Given the description of an element on the screen output the (x, y) to click on. 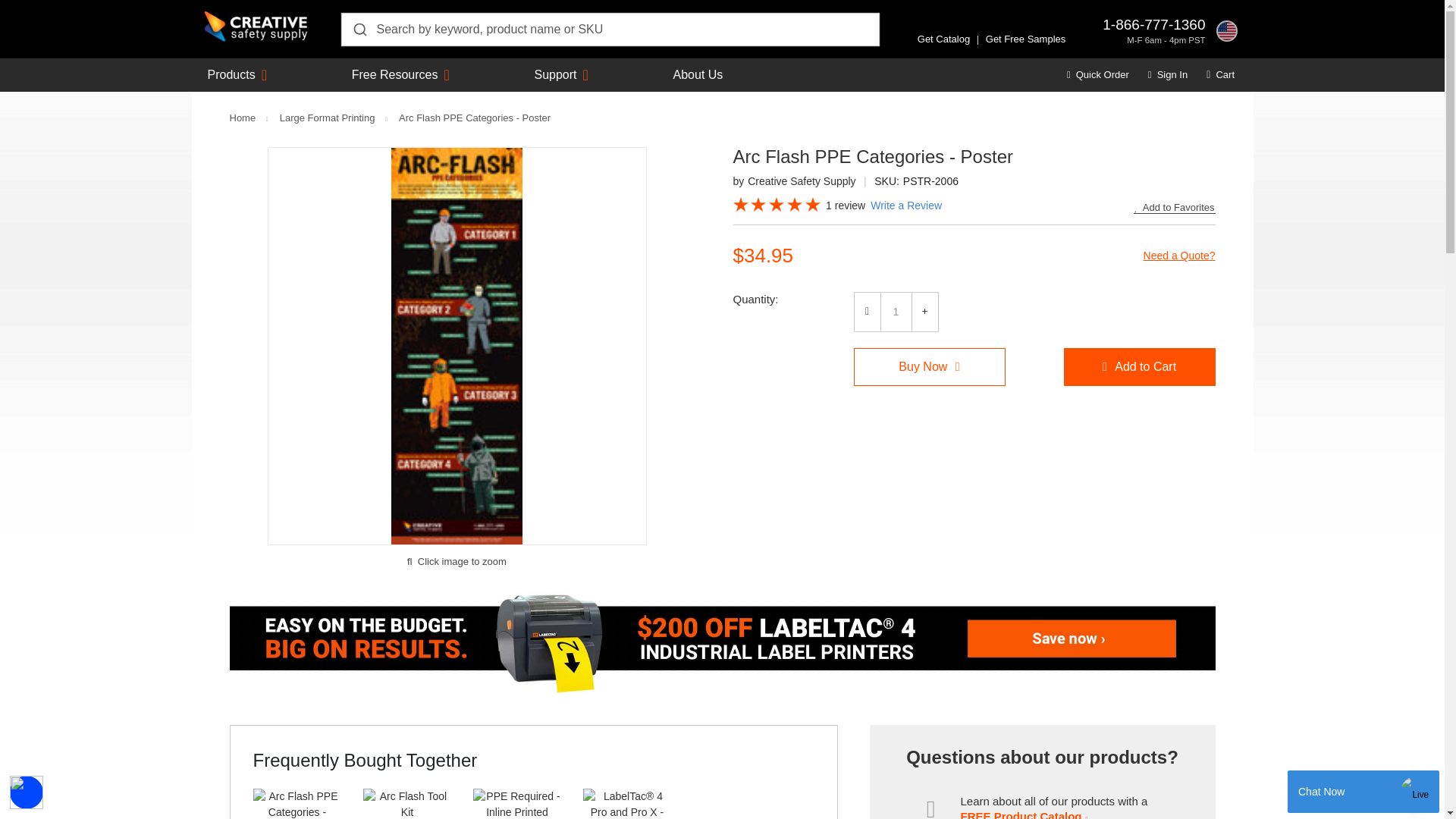
Products (232, 74)
Creative Safety Supply logo (255, 26)
1-866-777-1360 (1153, 24)
Accessibility Menu (26, 792)
Submit (358, 29)
Get Catalog (943, 39)
Get Free Samples (1025, 39)
